Given the description of an element on the screen output the (x, y) to click on. 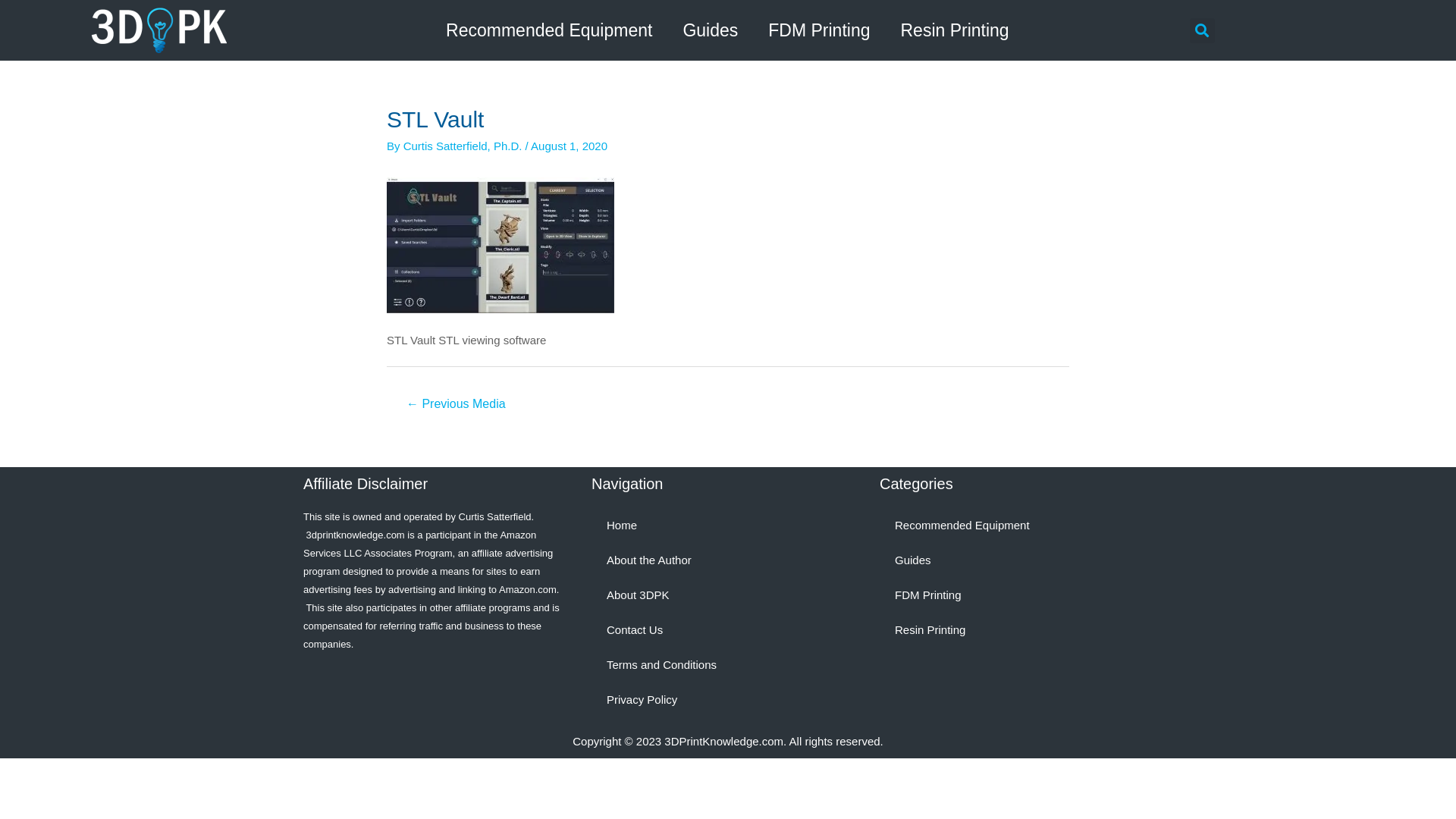
FDM Printing Element type: text (1015, 594)
Recommended Equipment Element type: text (1015, 525)
Resin Printing Element type: text (953, 29)
Contact Us Element type: text (727, 629)
Terms and Conditions Element type: text (727, 664)
About the Author Element type: text (727, 559)
Guides Element type: text (710, 29)
FDM Printing Element type: text (818, 29)
cropped-3DPK_Logo.png Element type: hover (158, 30)
Guides Element type: text (1015, 559)
Resin Printing Element type: text (1015, 629)
Home Element type: text (727, 525)
About 3DPK Element type: text (727, 594)
Curtis Satterfield, Ph.D. Element type: text (464, 145)
Recommended Equipment Element type: text (548, 29)
Privacy Policy Element type: text (727, 699)
